Given the description of an element on the screen output the (x, y) to click on. 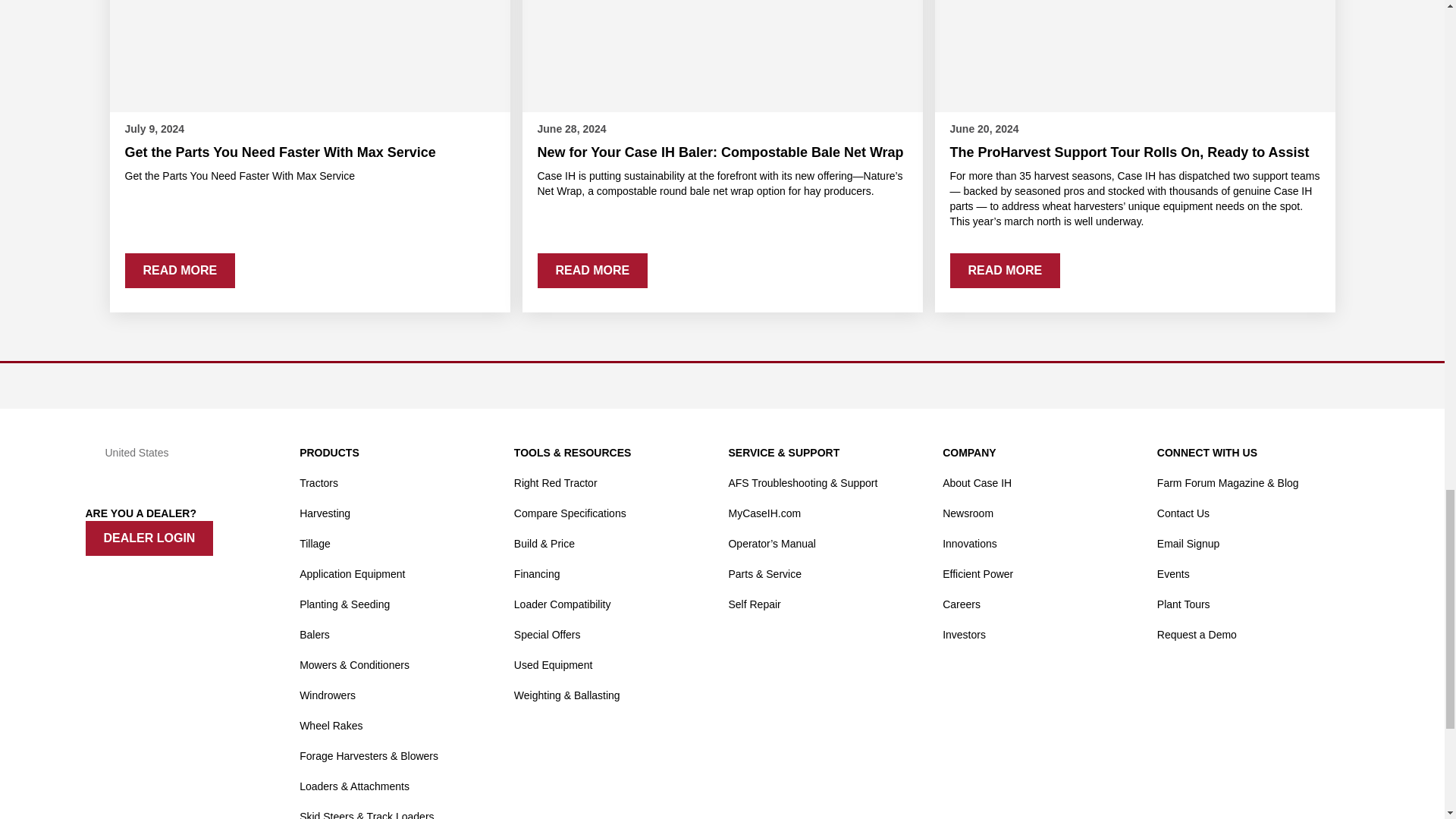
READ MORE (592, 270)
Wheel Rakes (330, 725)
Tillage (314, 543)
Right Red Tractor (554, 482)
Dealer login (148, 538)
READ MORE (1004, 270)
Balers (314, 634)
Special Offers (546, 634)
PRODUCTS (329, 452)
Compare Specifications (569, 512)
Tractors (318, 482)
Windrowers (327, 695)
Financing (536, 573)
Loader Compatibility (562, 604)
READ MORE (178, 270)
